Given the description of an element on the screen output the (x, y) to click on. 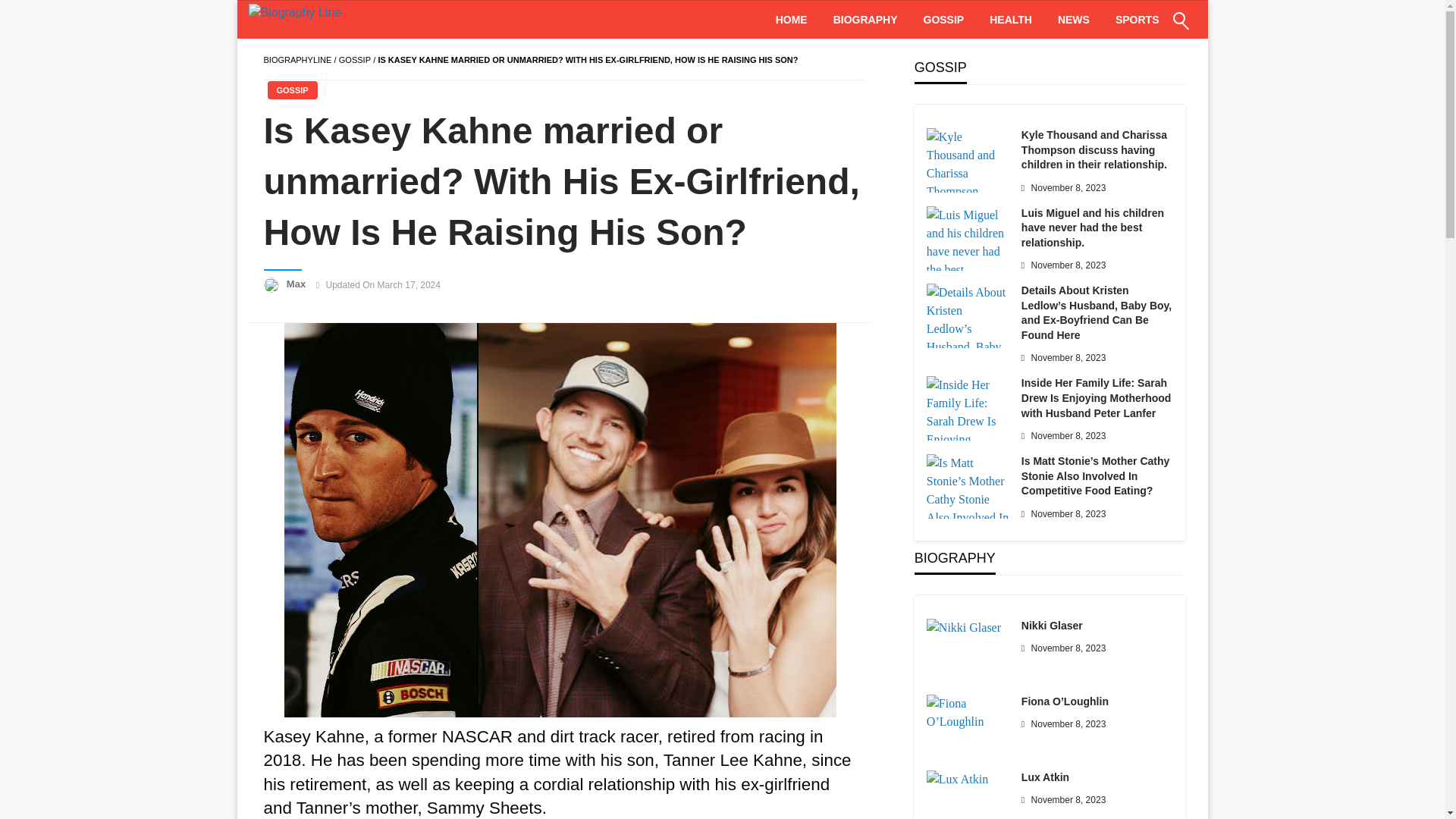
Biography Line (327, 19)
Biographyline (297, 59)
HEALTH (1010, 19)
BIOGRAPHYLINE (297, 59)
SPORTS (1137, 19)
Max (297, 283)
BIOGRAPHY (866, 19)
GOSSIP (943, 19)
Max (297, 283)
